Given the description of an element on the screen output the (x, y) to click on. 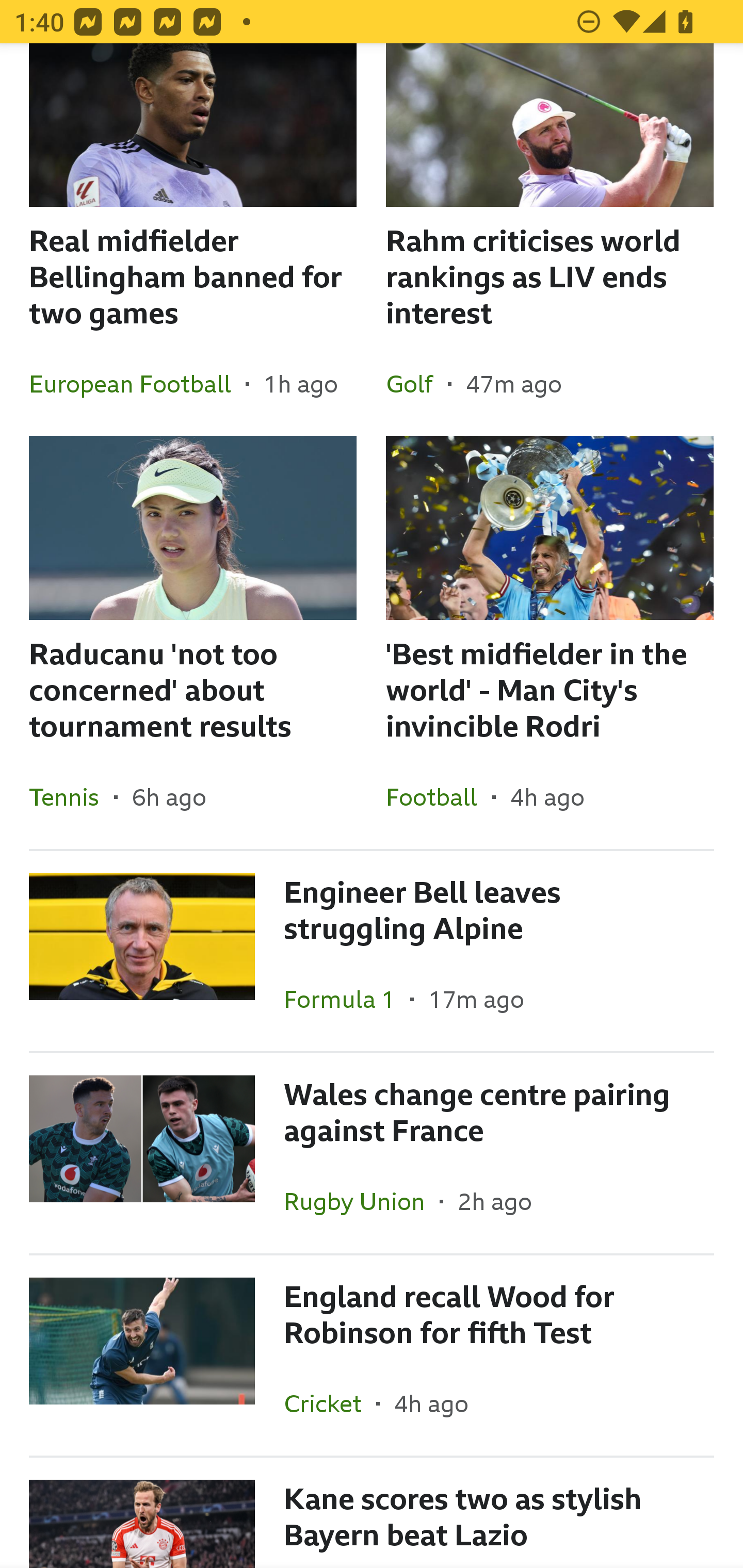
European Football In the section European Football (136, 383)
Golf In the section Golf (416, 383)
Tennis In the section Tennis (70, 796)
Football In the section Football (438, 796)
Formula 1 In the section Formula 1 (346, 998)
Rugby Union In the section Rugby Union (361, 1200)
Cricket In the section Cricket (329, 1403)
